Given the description of an element on the screen output the (x, y) to click on. 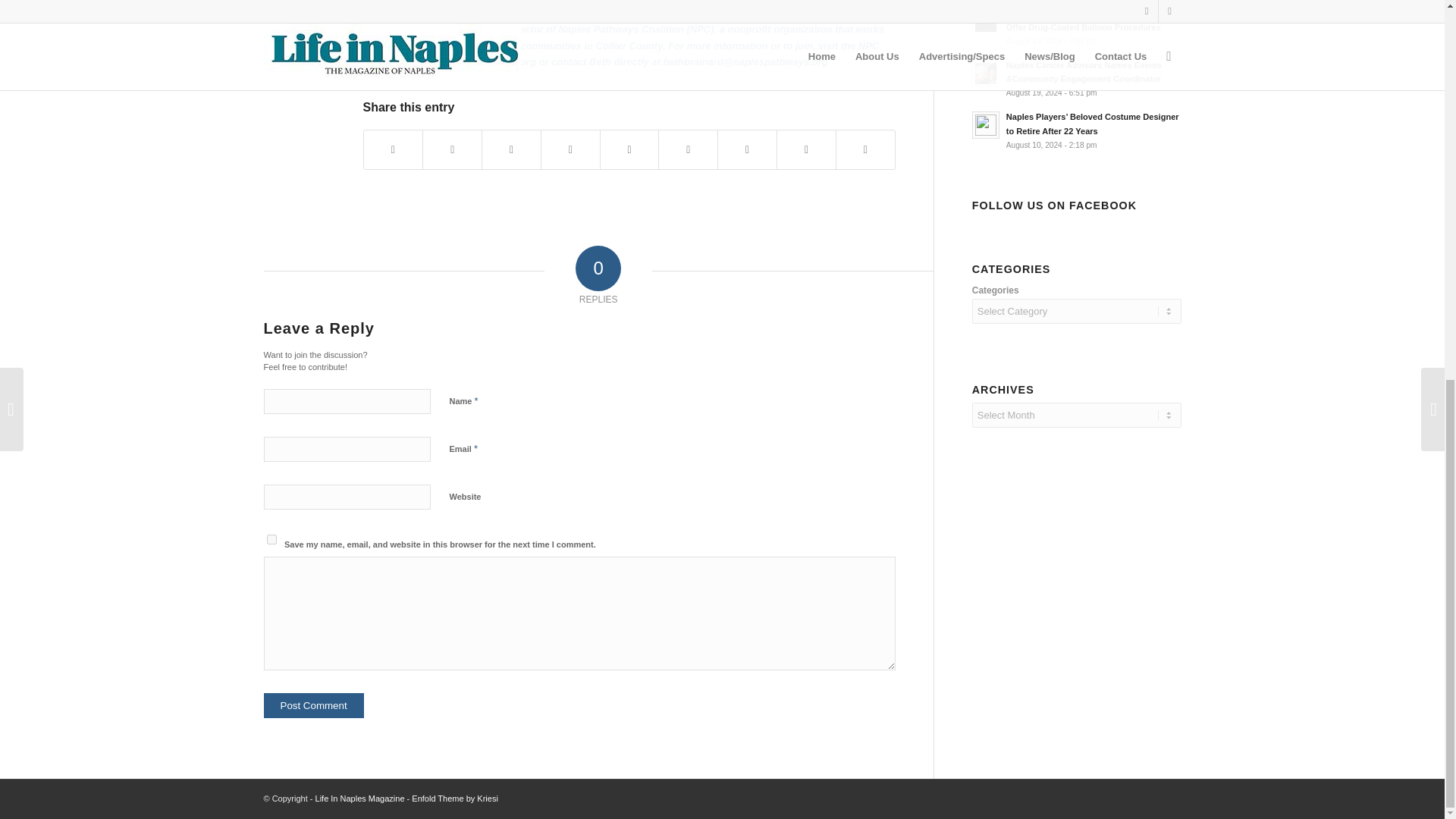
Post Comment (313, 705)
Post Comment (313, 705)
yes (271, 539)
